Given the description of an element on the screen output the (x, y) to click on. 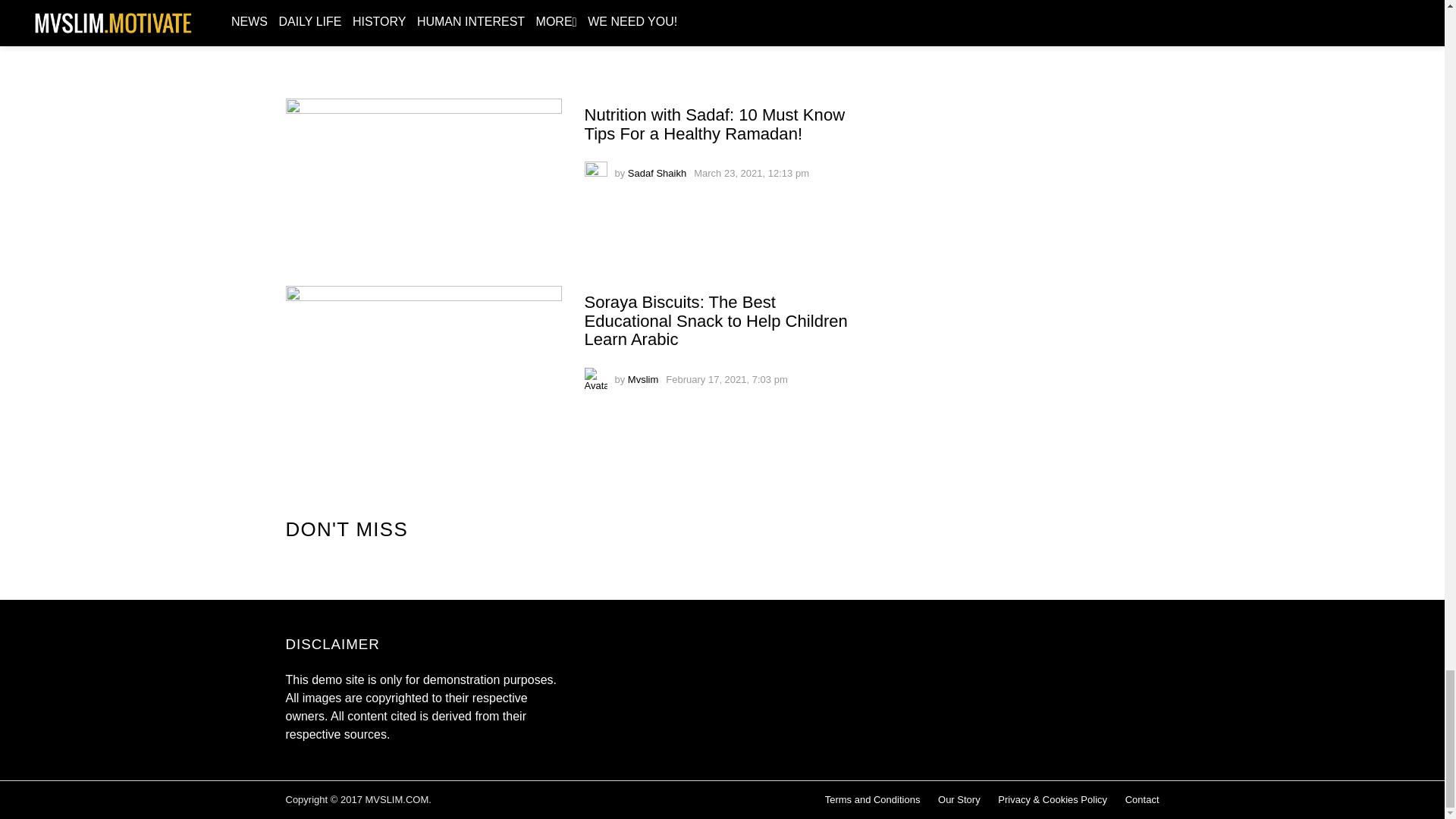
Posts by Sadaf Shaikh (656, 173)
Posts by Mvslim (642, 378)
